Given the description of an element on the screen output the (x, y) to click on. 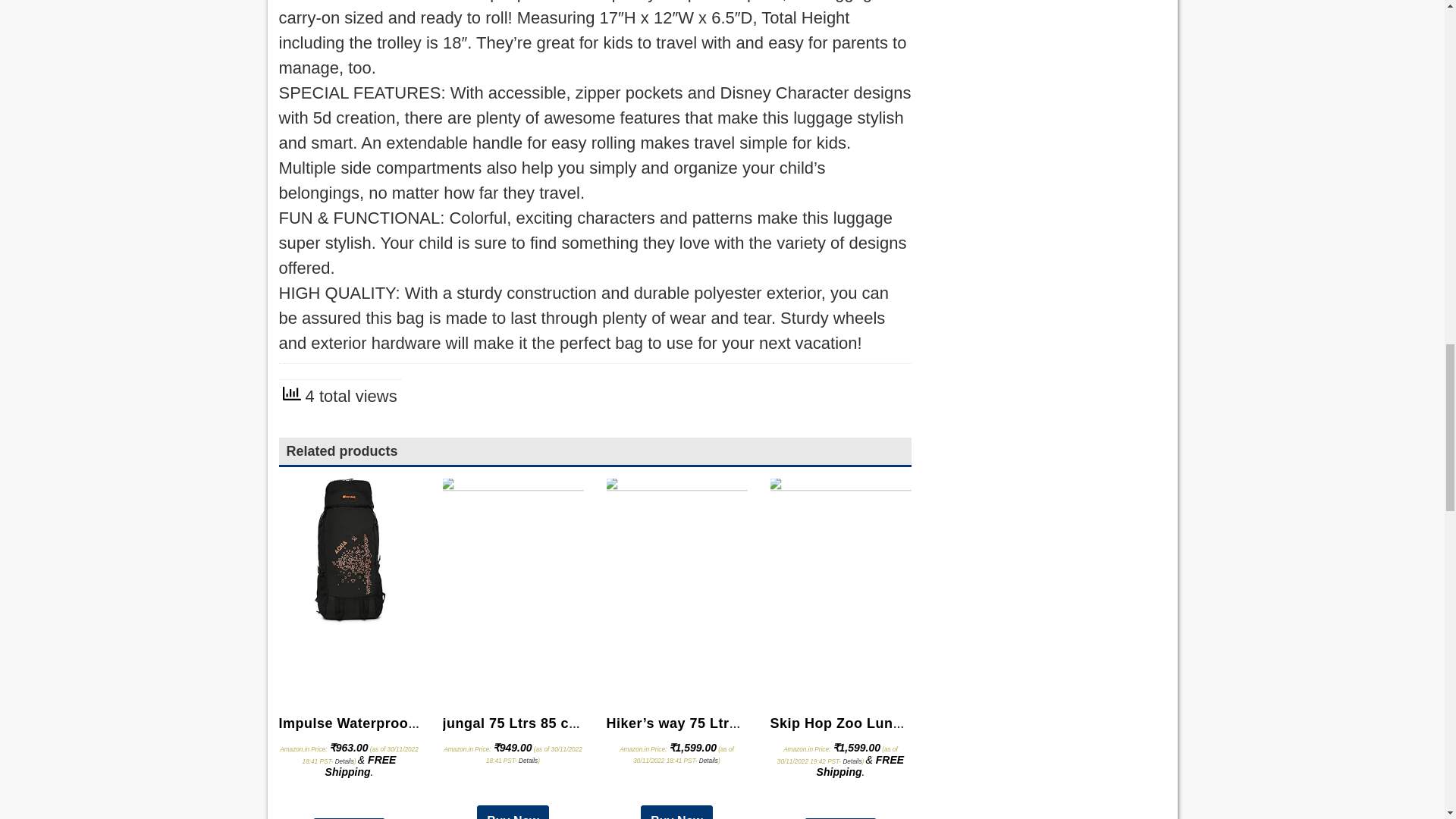
jungal 75 Ltrs 85 cms Rucksack (551, 723)
Buy Now (348, 818)
Details (343, 761)
